Given the description of an element on the screen output the (x, y) to click on. 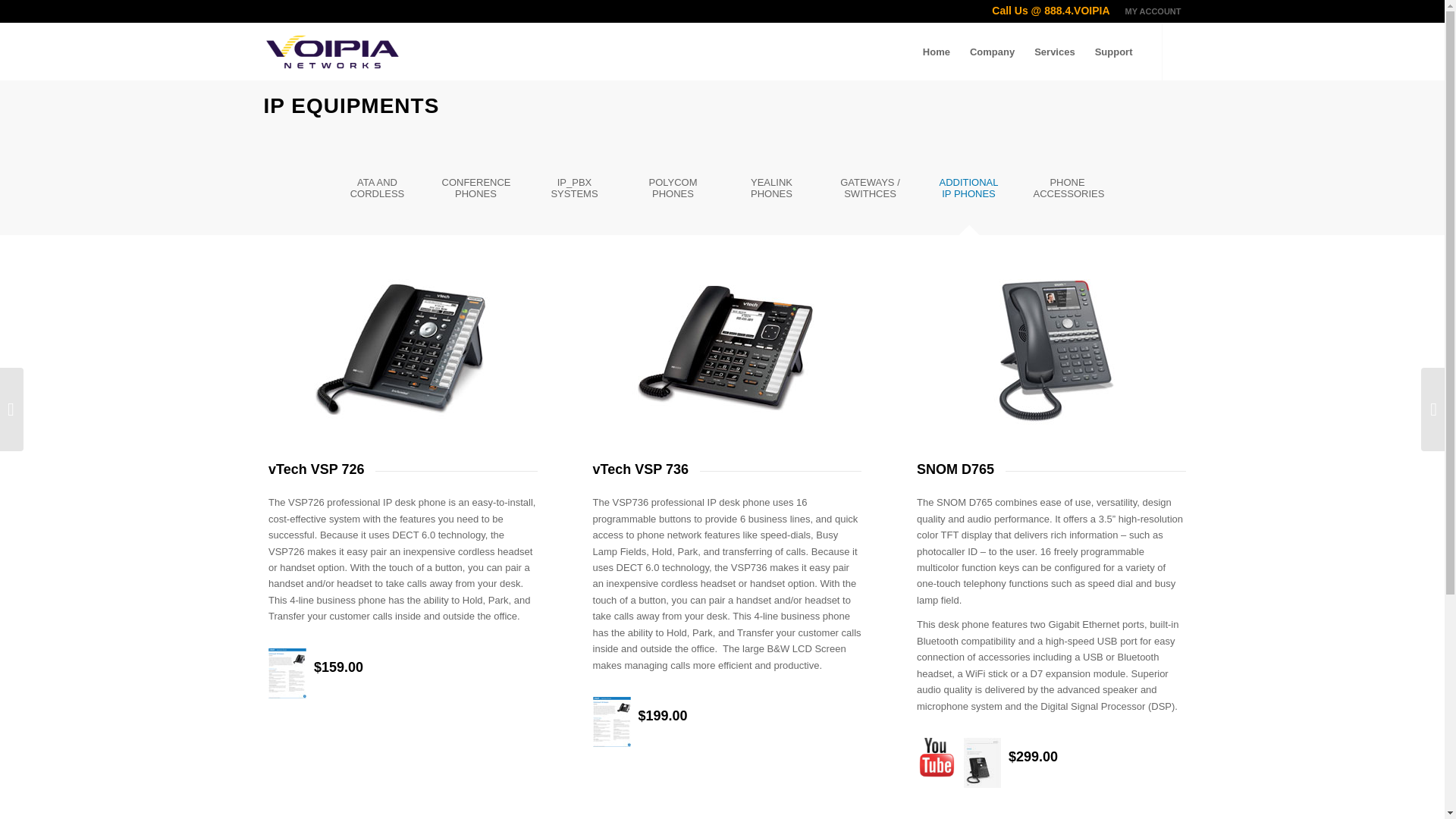
Services (1054, 51)
MY ACCOUNT (1152, 11)
YEALINK PHONES (771, 193)
Home (935, 51)
Support (1113, 51)
CONFERENCE PHONES (475, 193)
ADDITIONAL IP PHONES (967, 193)
ATA AND CORDLESS (376, 193)
PHONE ACCESSORIES (1066, 193)
POLYCOM PHONES (672, 193)
Company (992, 51)
